Given the description of an element on the screen output the (x, y) to click on. 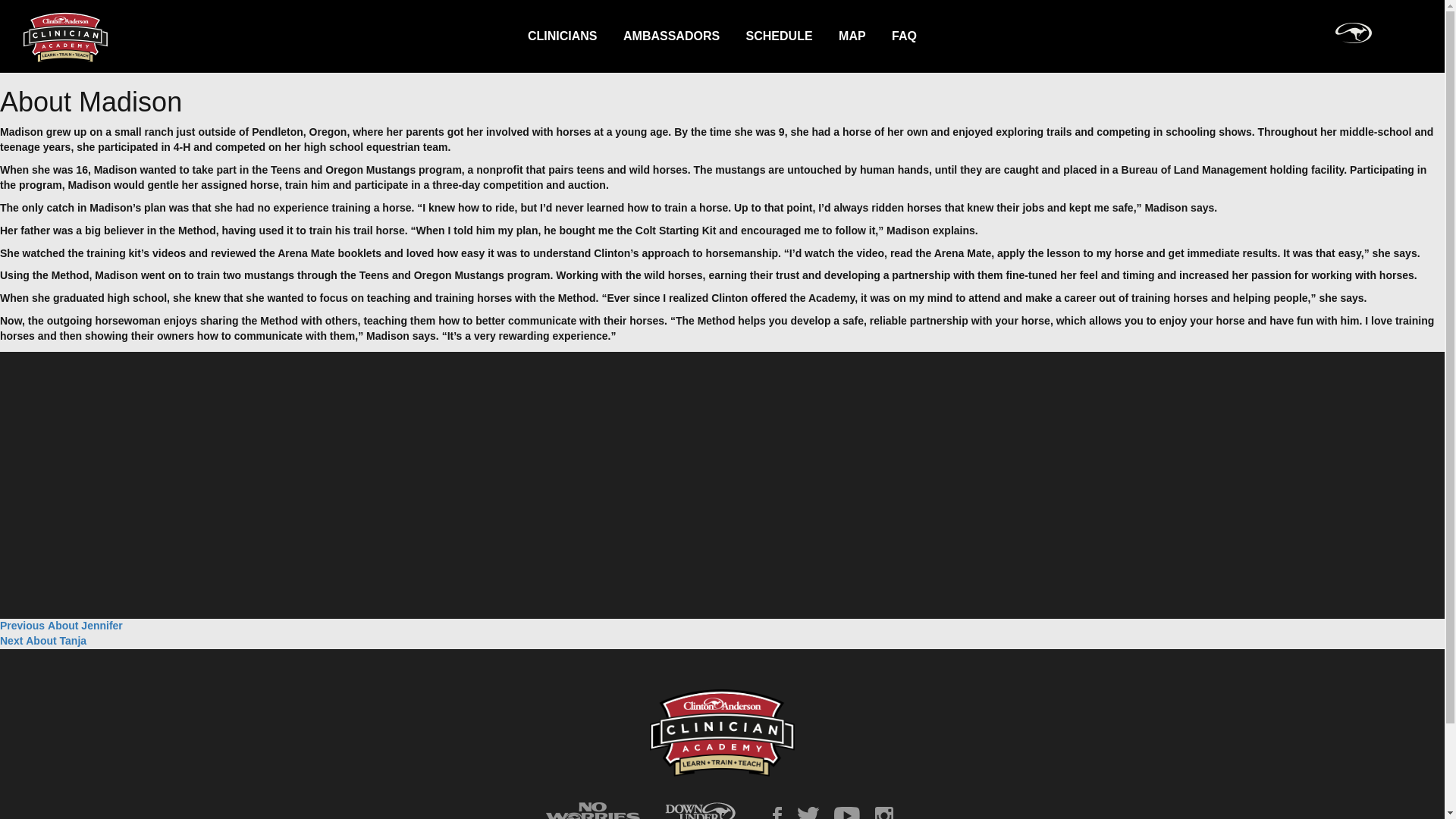
SCHEDULE (61, 625)
CLINICIANS (779, 36)
FAQ (562, 36)
AMBASSADORS (904, 36)
MAP (670, 36)
